Given the description of an element on the screen output the (x, y) to click on. 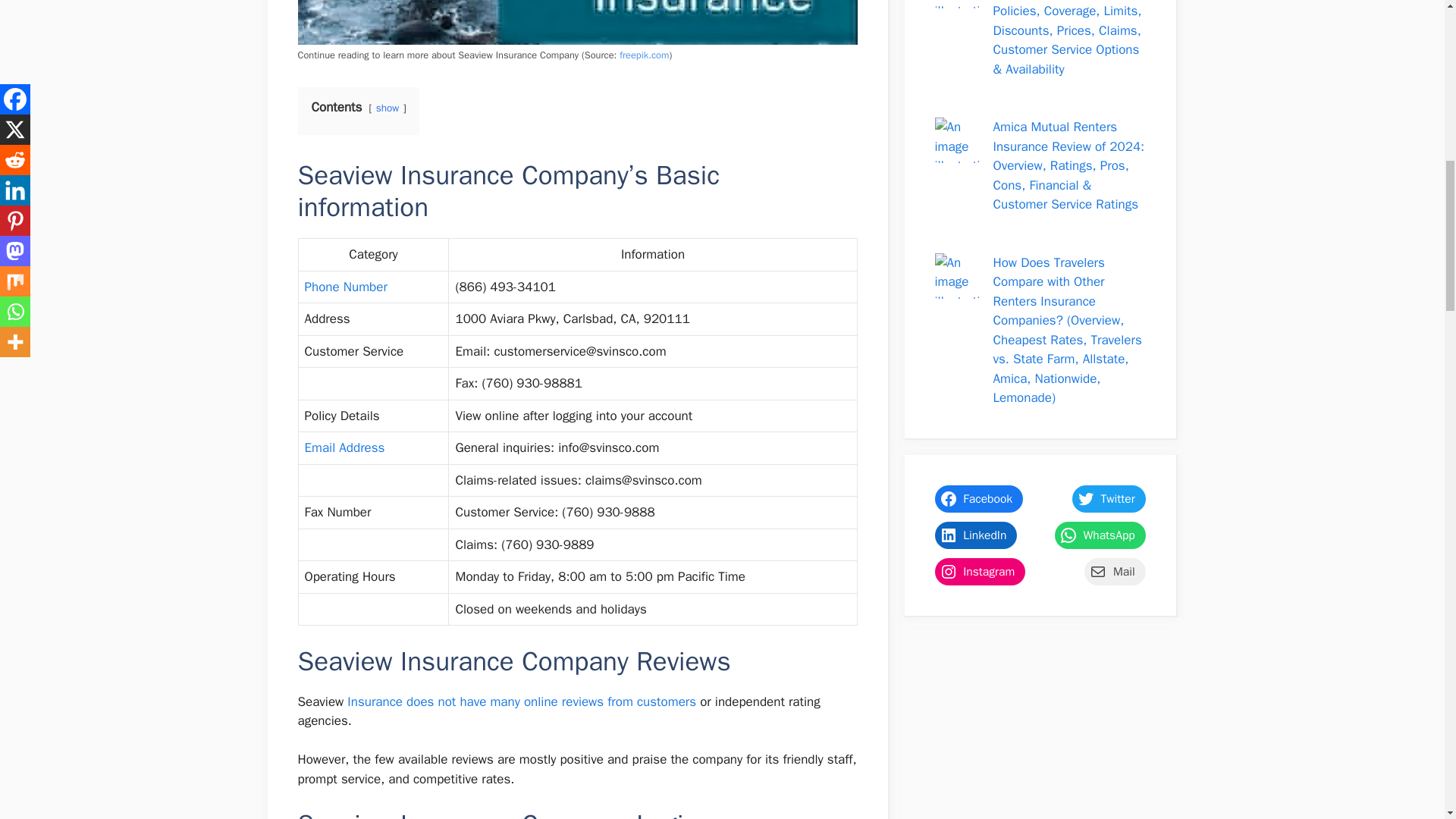
freepik.com (644, 55)
show (386, 107)
Email Address (344, 447)
Insurance does not have many online reviews from customers (521, 701)
Phone Number (345, 286)
